Given the description of an element on the screen output the (x, y) to click on. 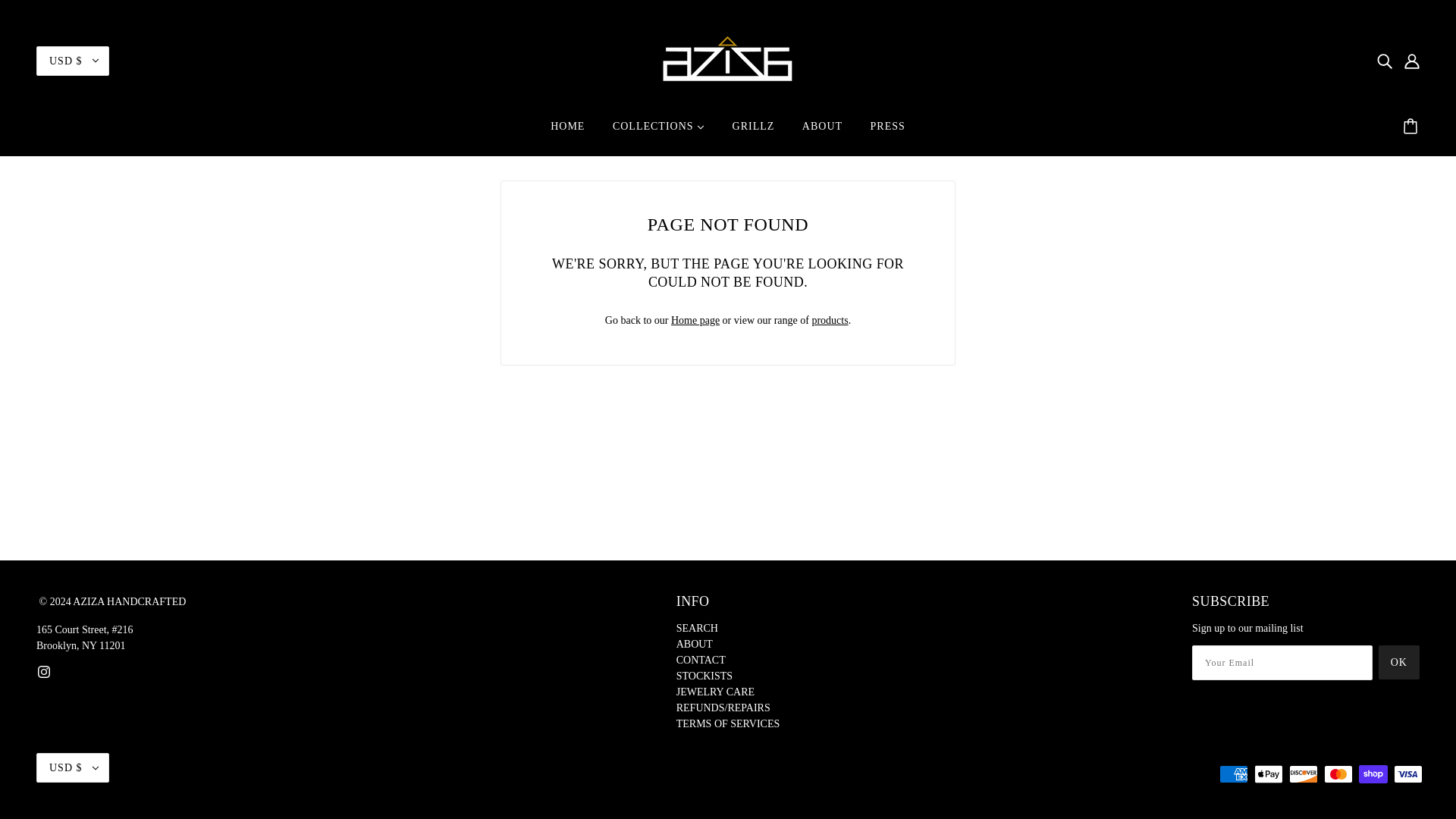
GRILLZ (753, 132)
Aziza Handcrafted (727, 59)
Discover (1302, 773)
ABOUT (695, 644)
ABOUT (822, 132)
TERMS OF SERVICES (728, 722)
PRESS (888, 132)
STOCKISTS (704, 675)
ABOUT (695, 644)
STOCKISTS (704, 675)
